Given the description of an element on the screen output the (x, y) to click on. 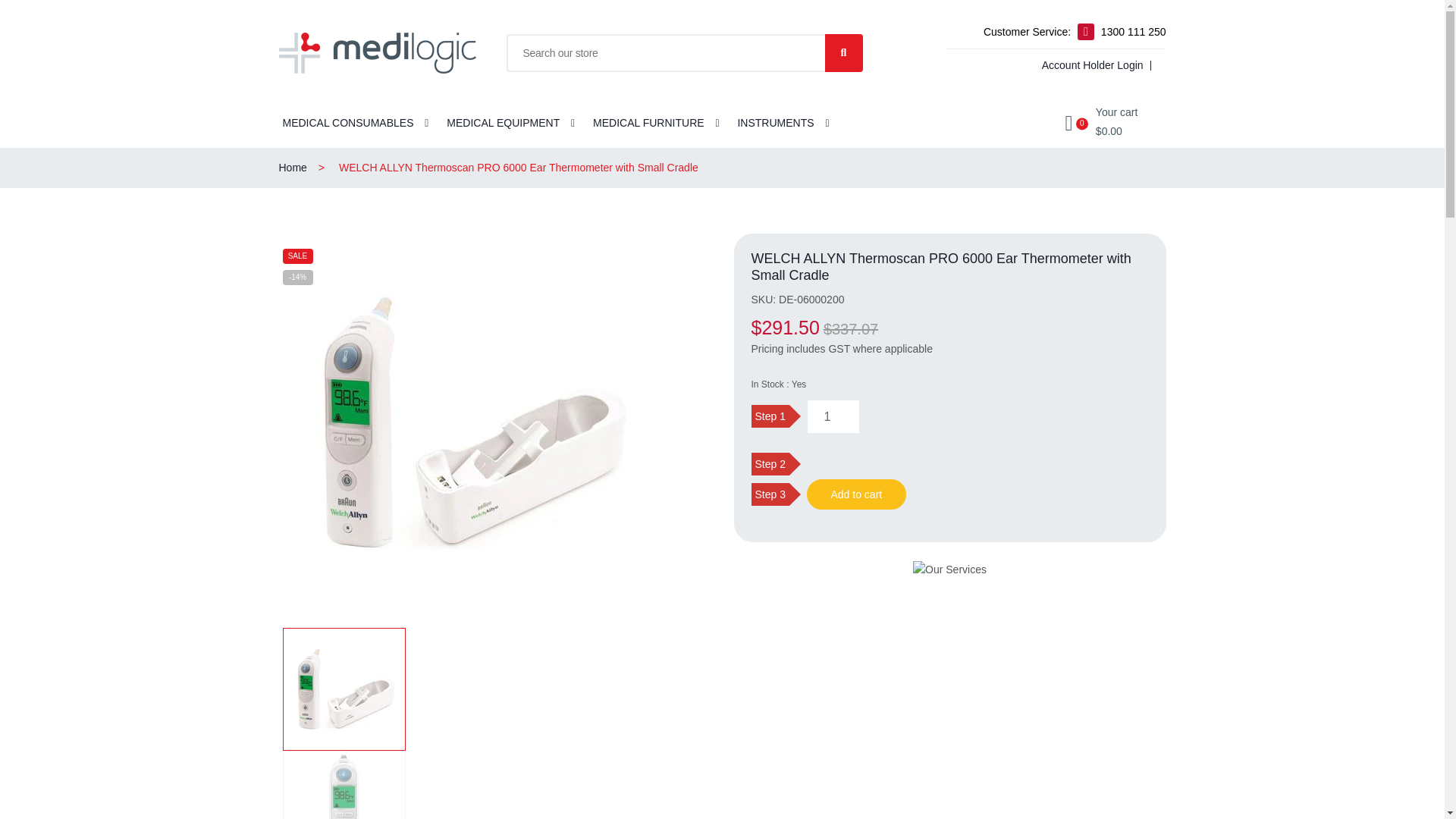
1300 111 250 (1133, 31)
Account Holder Login (1089, 65)
1 (833, 416)
MEDICAL CONSUMABLES (347, 123)
Back to the home page (307, 167)
